Given the description of an element on the screen output the (x, y) to click on. 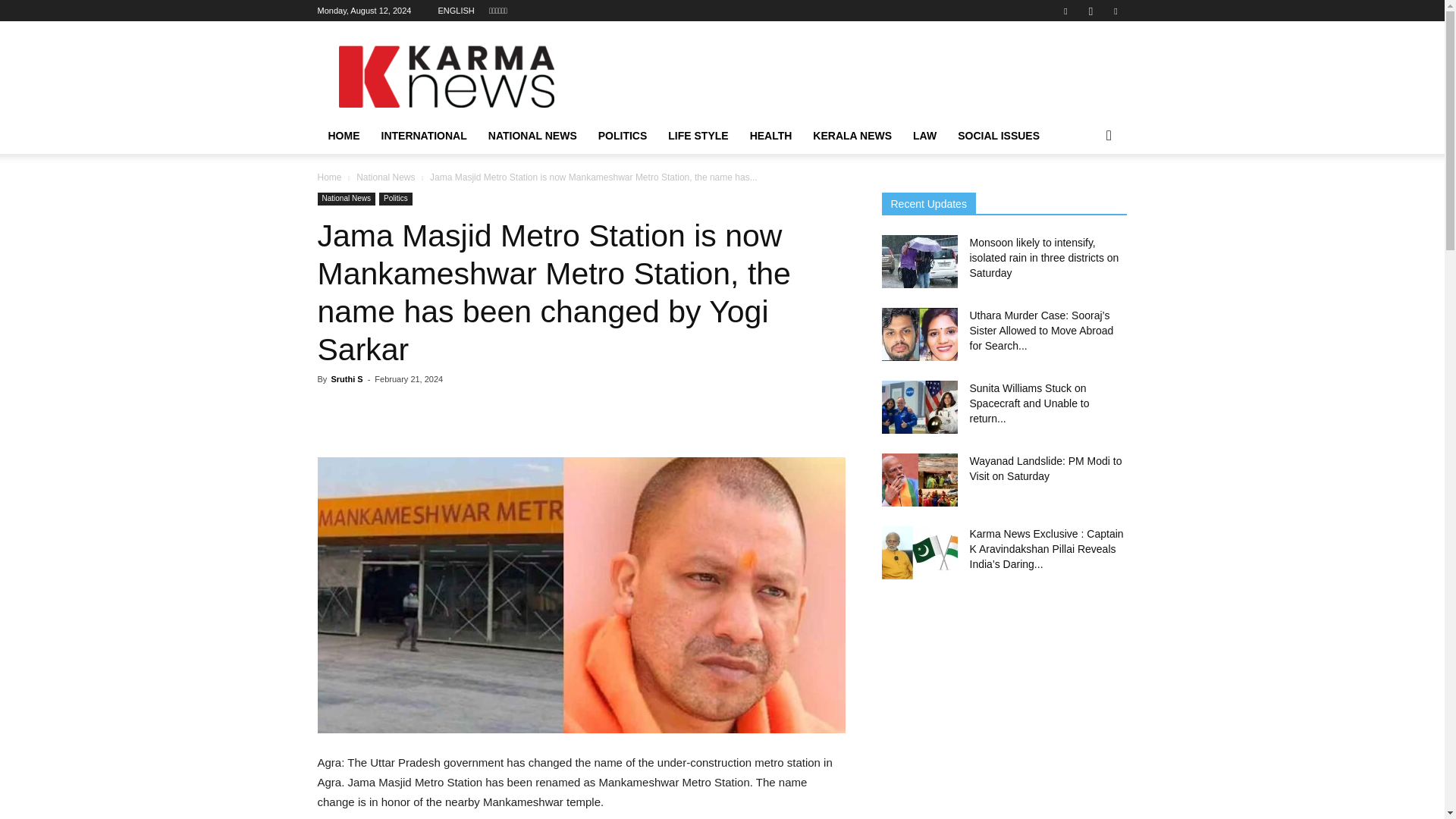
Youtube (1114, 10)
ENGLISH (456, 10)
LIFE STYLE (698, 135)
INTERNATIONAL (423, 135)
HOME (343, 135)
HEALTH (771, 135)
Search (1085, 196)
Politics (395, 198)
Sruthi S (346, 379)
Facebook (1065, 10)
